Given the description of an element on the screen output the (x, y) to click on. 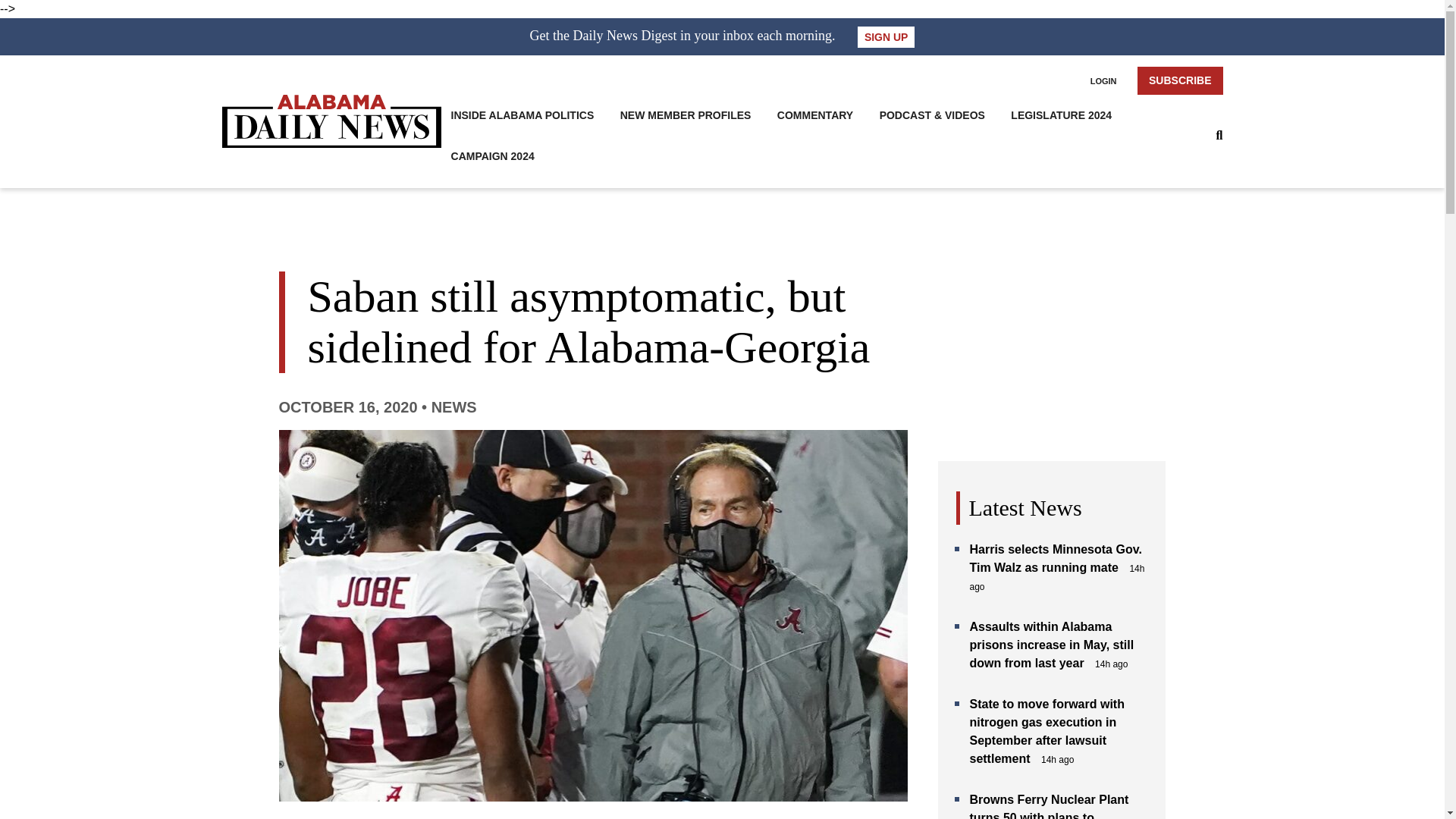
COMMENTARY (815, 115)
LEGISLATURE 2024 (1061, 115)
INSIDE ALABAMA POLITICS (522, 115)
Alabama Daily News (331, 121)
NEW MEMBER PROFILES (685, 115)
SIGN UP (886, 36)
CAMPAIGN 2024 (492, 156)
